Given the description of an element on the screen output the (x, y) to click on. 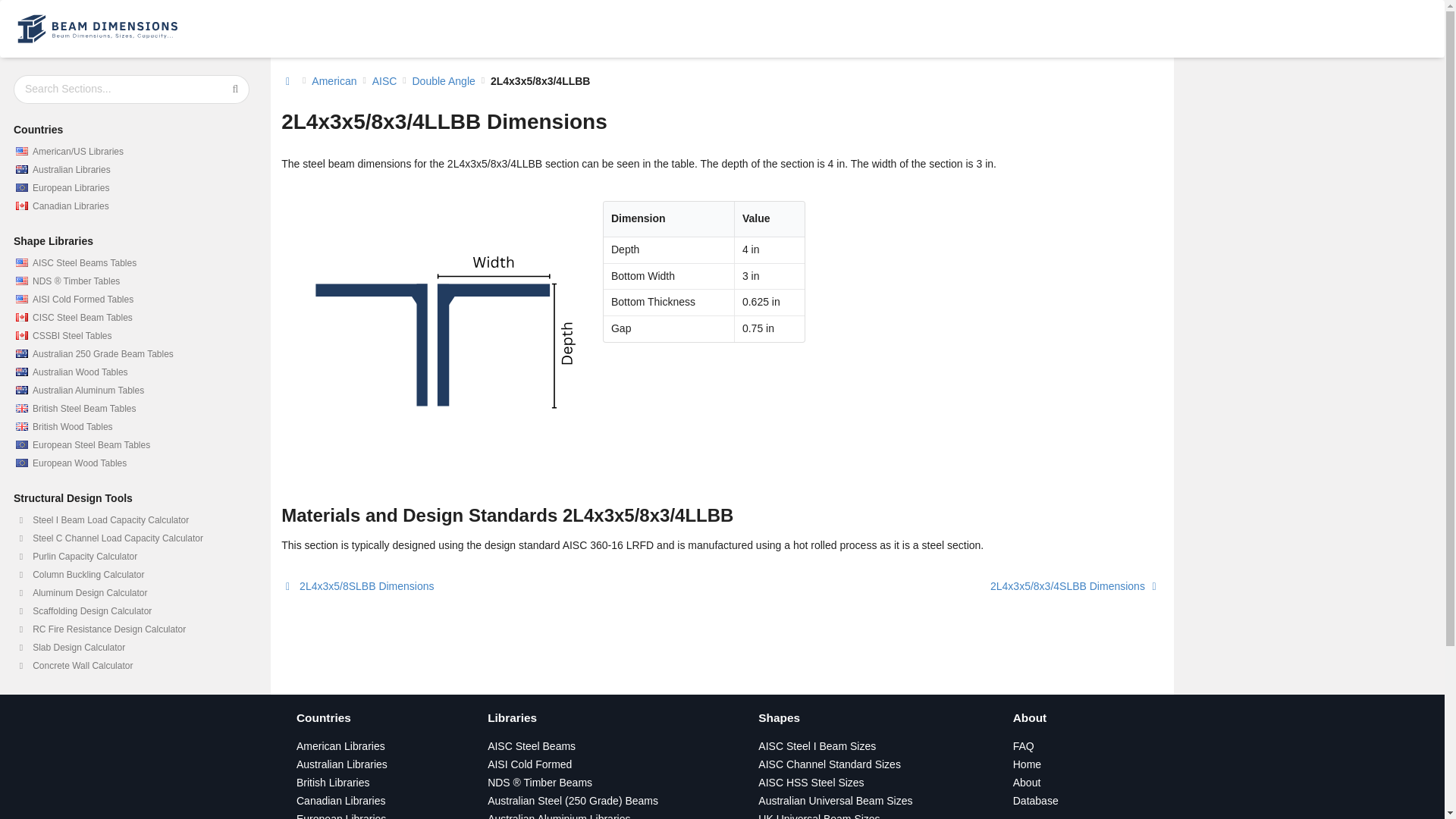
CSSBI Steel Tables (131, 335)
Canadian Libraries (131, 206)
Australian Wood Tables (131, 372)
Steel C Channel Load Capacity Calculator (131, 538)
Australian Aluminum Tables (131, 390)
European Wood Tables (131, 463)
Aluminum Design Calculator (131, 592)
Concrete Wall Calculator (131, 665)
American Libraries (341, 746)
Canadian Libraries (341, 800)
Australian 250 Grade Beam Tables (131, 353)
Slab Design Calculator (131, 647)
Scaffolding Design Calculator (131, 610)
AISC Steel Beams Tables (131, 262)
European Libraries (341, 816)
